Given the description of an element on the screen output the (x, y) to click on. 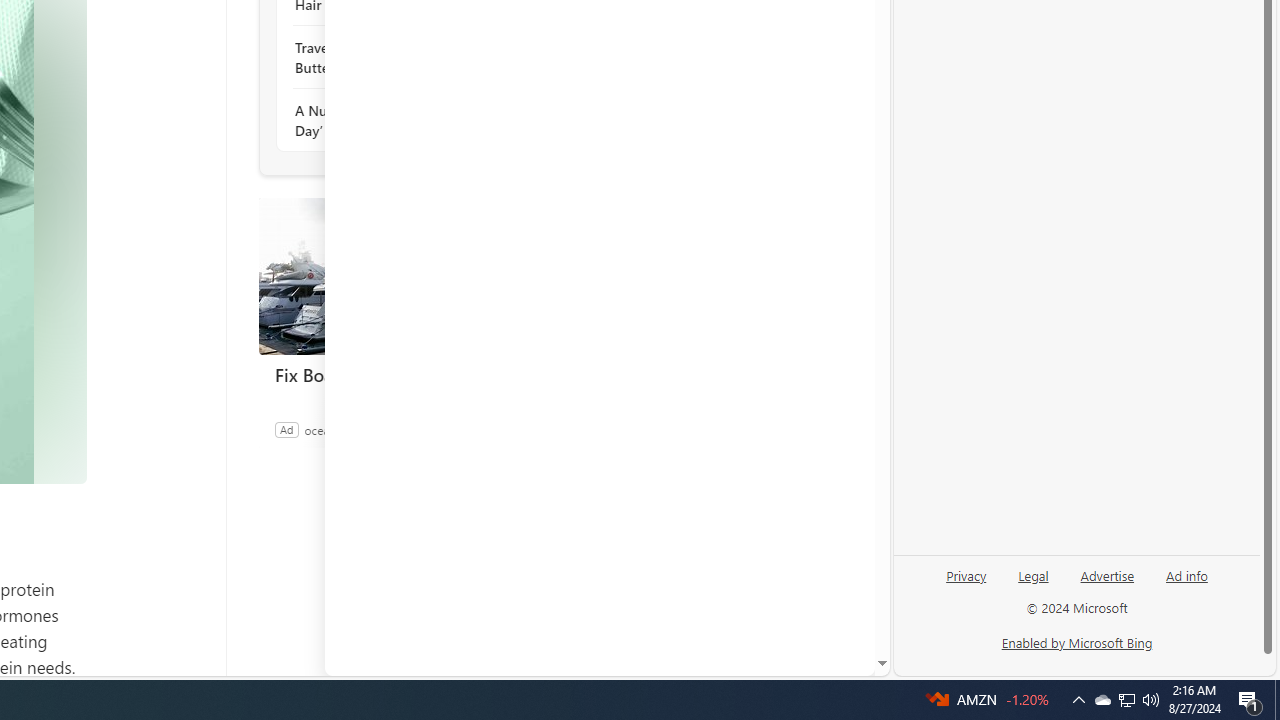
Fix Boat Bliss (408, 276)
